Given the description of an element on the screen output the (x, y) to click on. 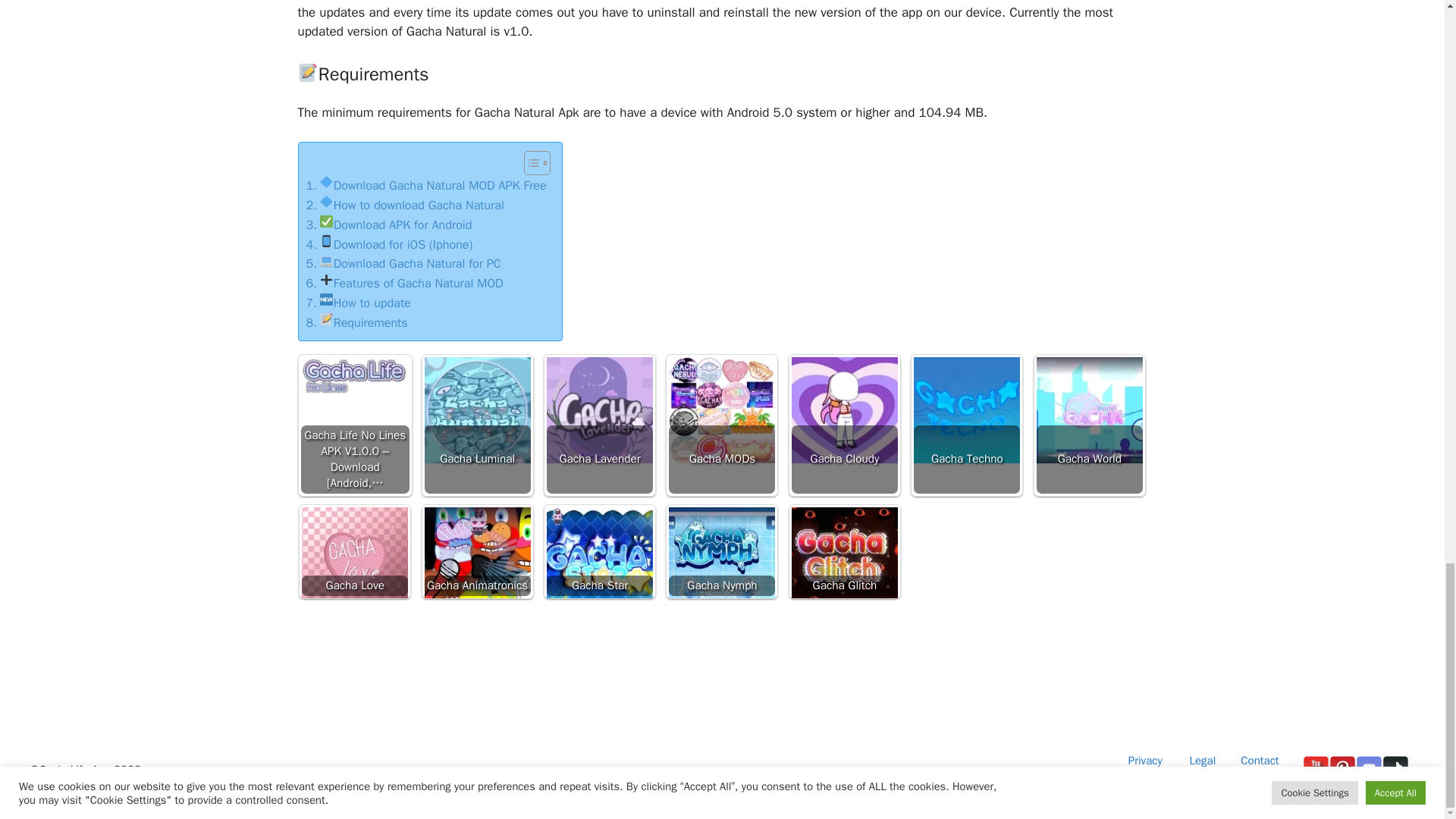
Download Gacha Natural MOD APK Free (426, 185)
How to update (357, 302)
Gacha Lavender (599, 410)
Features of Gacha Natural MOD (404, 283)
Download Gacha Natural for PC (402, 263)
Gacha Luminal (478, 410)
Requirements (356, 322)
Gacha MODs (721, 410)
Download APK for Android (388, 225)
Gacha Cloudy (845, 410)
How to download Gacha Natural (404, 205)
